Given the description of an element on the screen output the (x, y) to click on. 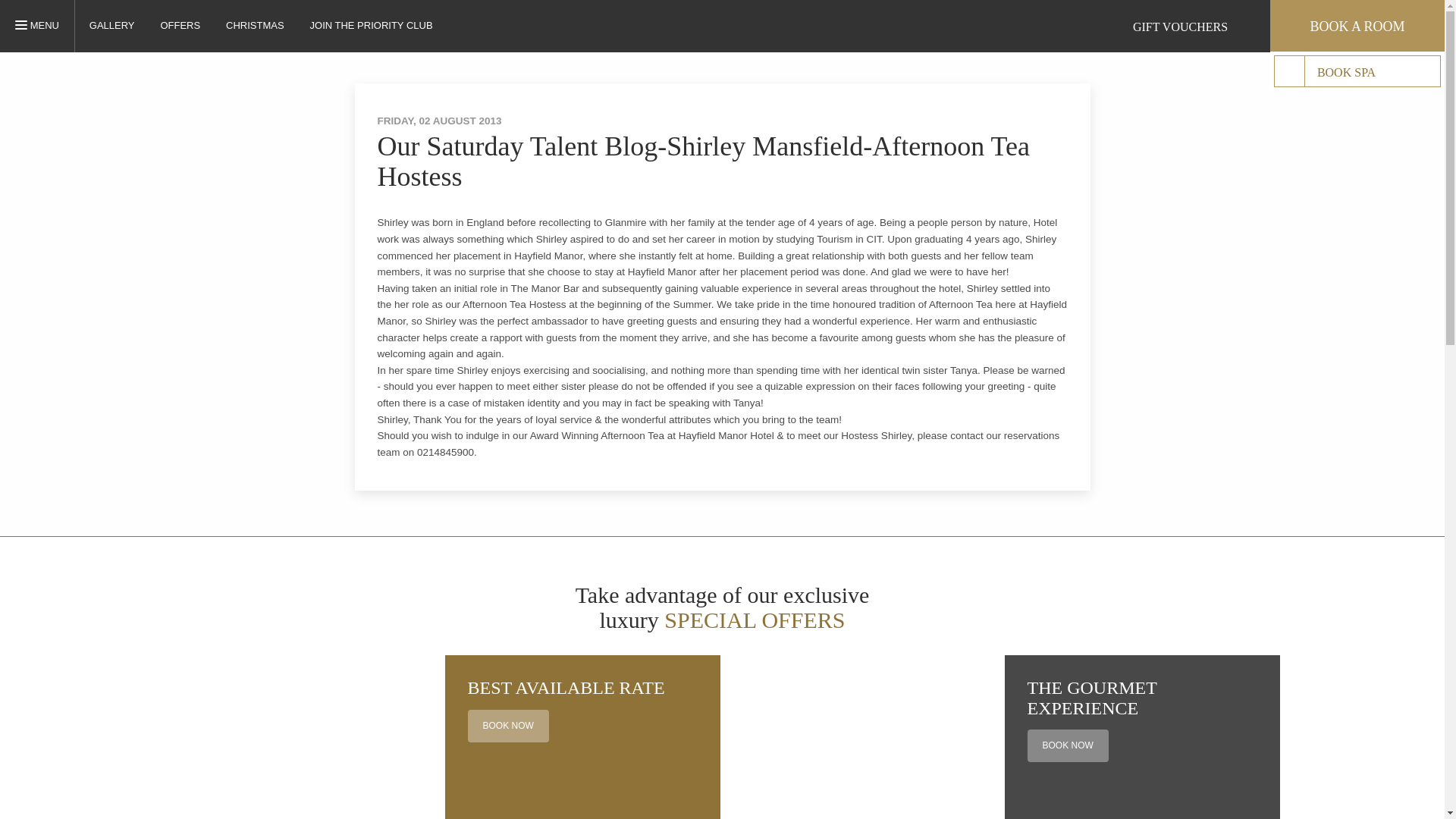
Book Spa BOOK SPA (1357, 70)
GALLERY (112, 25)
CHRISTMAS (254, 25)
Gift Vouchers GIFT VOUCHERS (44, 26)
Book Spa (1182, 25)
JOIN THE PRIORITY CLUB (1289, 71)
GIFT VOUCHERS (371, 25)
OFFERS (462, 23)
Gift Vouchers (179, 25)
